Given the description of an element on the screen output the (x, y) to click on. 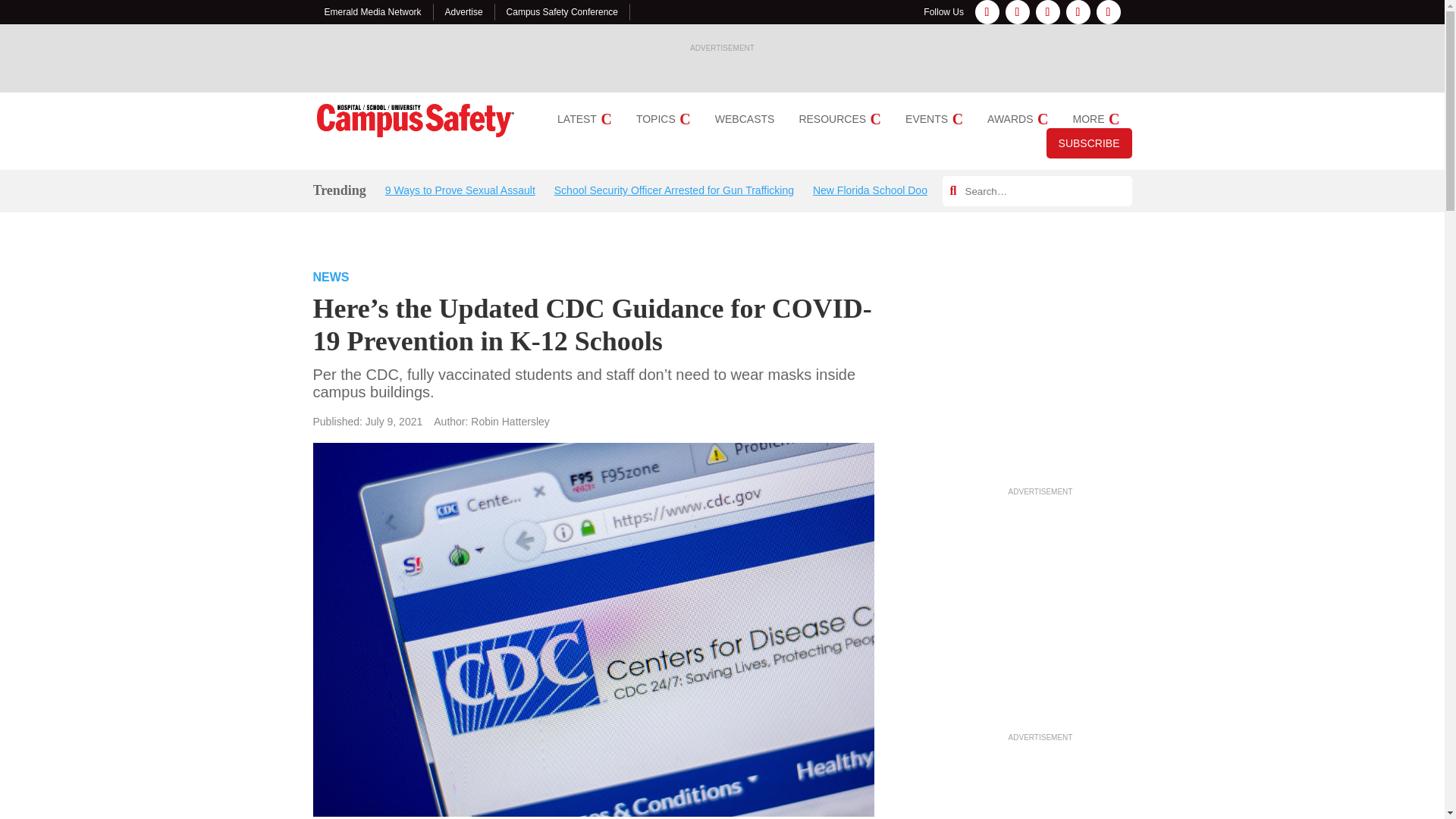
TOPICS (663, 118)
Follow on Youtube (1108, 12)
LATEST (584, 118)
Follow on X (1077, 12)
Advertise (464, 11)
Campus Safety Conference (561, 11)
Follow on Facebook (986, 12)
Follow on LinkedIn (1047, 12)
Emerald Media Network (373, 11)
Follow on Instagram (1017, 12)
